Given the description of an element on the screen output the (x, y) to click on. 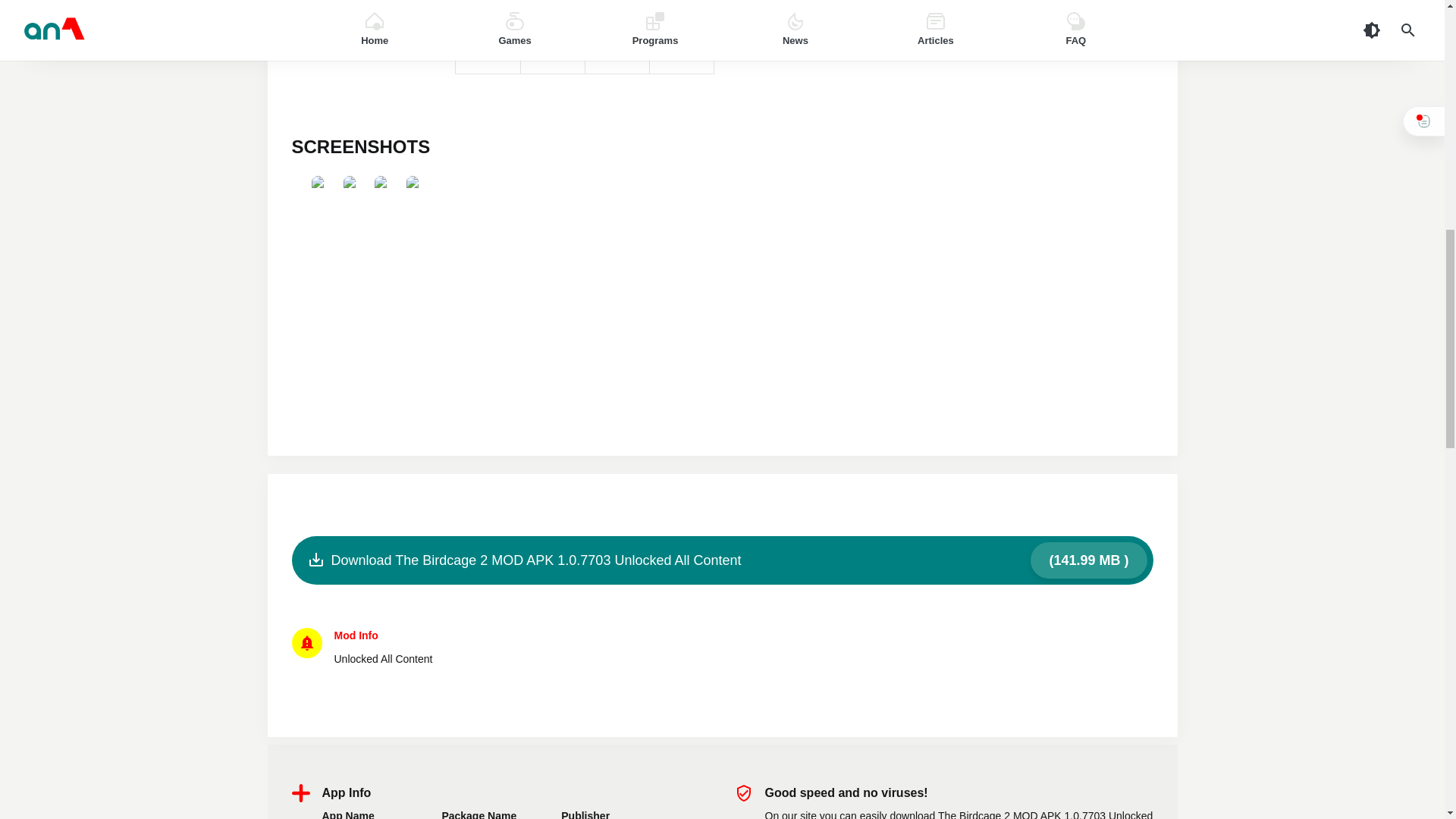
Share on Telegram (615, 52)
Share on Facebook (486, 52)
Share on WhatsApp (681, 52)
Share on Twitter (552, 52)
